Given the description of an element on the screen output the (x, y) to click on. 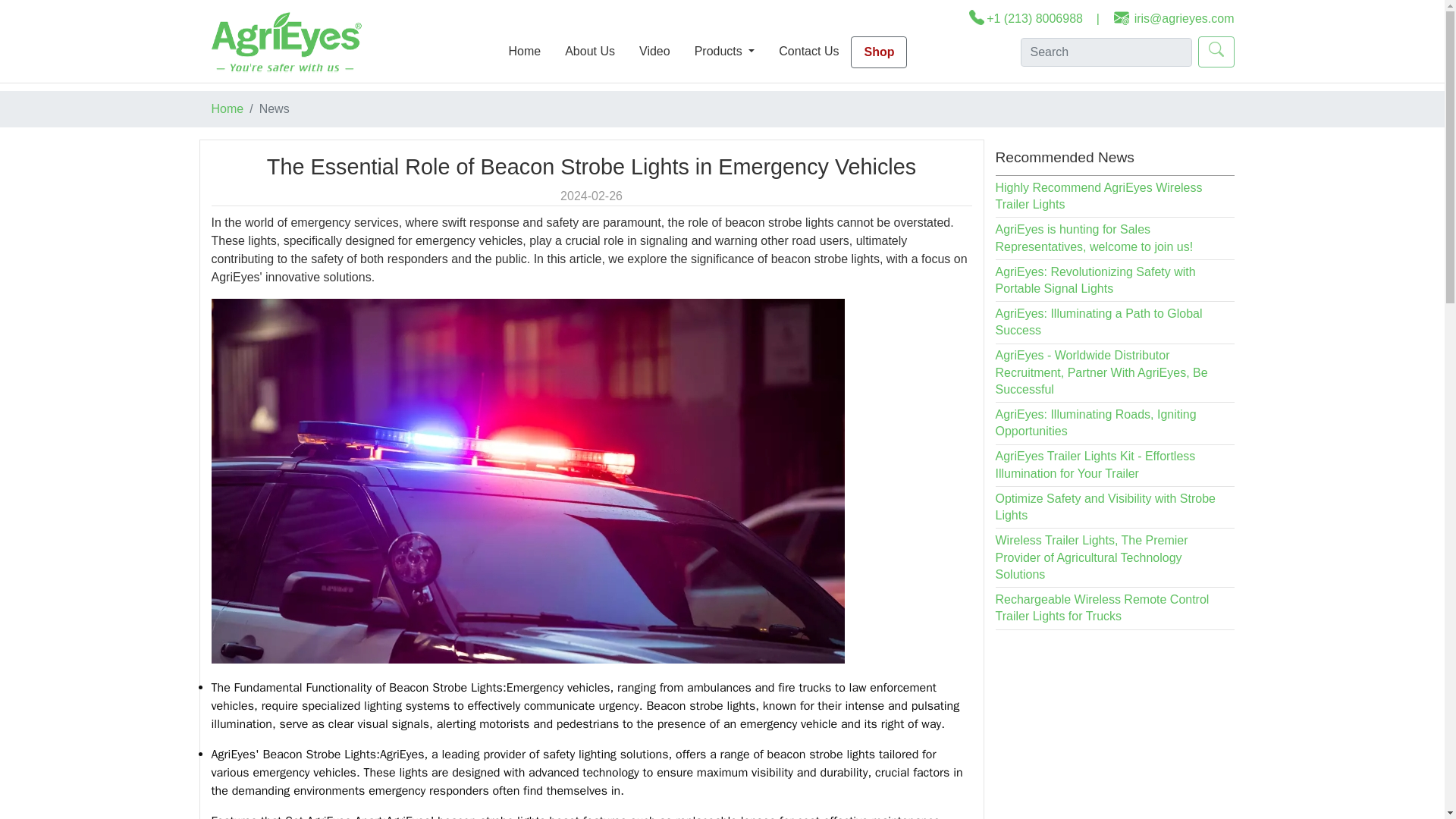
Shop (878, 51)
Highly Recommend AgriEyes Wireless Trailer Lights (1098, 195)
Contact Us (808, 51)
AgriEyes: Revolutionizing Safety with Portable Signal Lights (1094, 279)
Video (654, 51)
AgriEyes: Illuminating a Path to Global Success (1098, 321)
AgriEyes: Illuminating Roads, Igniting Opportunities (1094, 422)
Products (724, 51)
